Given the description of an element on the screen output the (x, y) to click on. 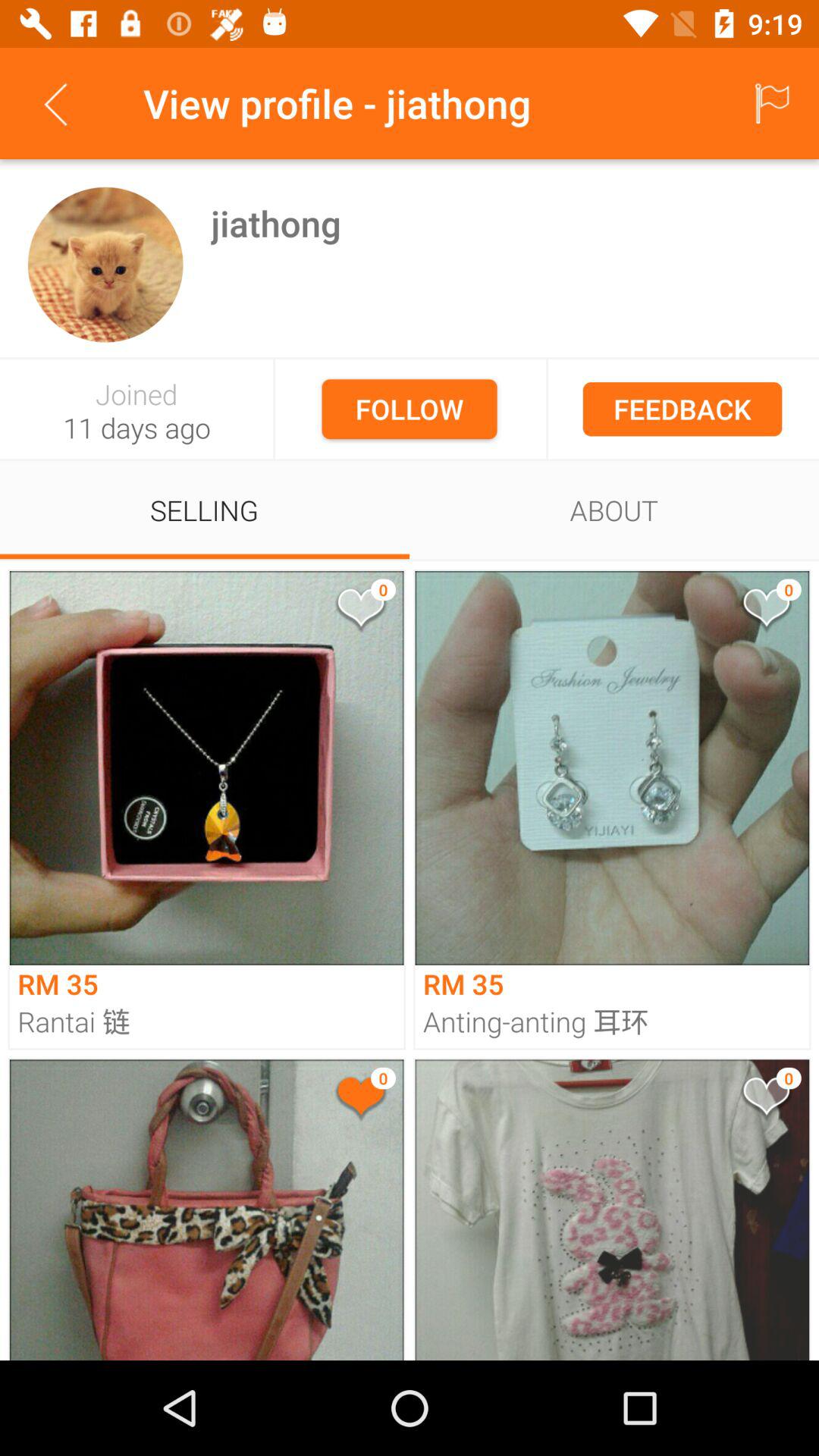
toggle favorite (359, 1099)
